Given the description of an element on the screen output the (x, y) to click on. 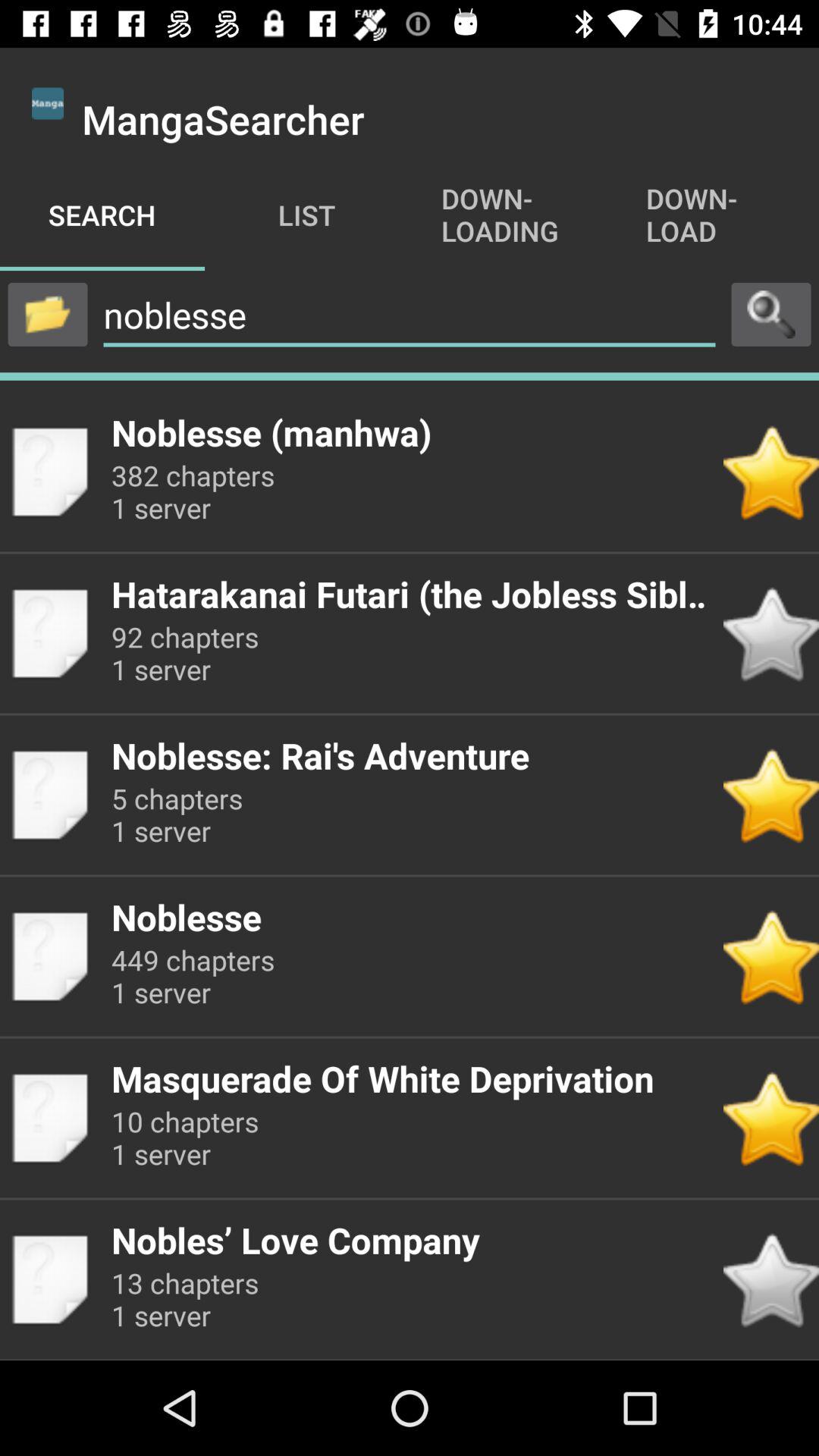
search (771, 314)
